Given the description of an element on the screen output the (x, y) to click on. 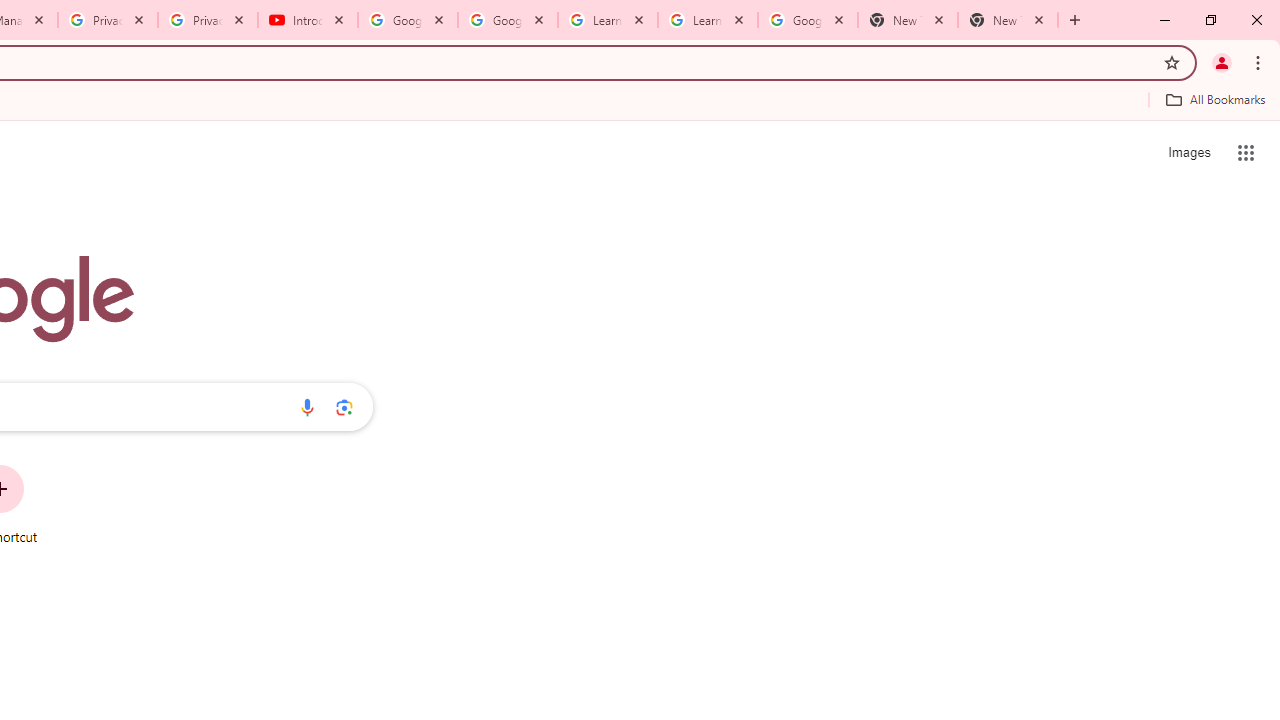
Google Account Help (508, 20)
Google Account Help (408, 20)
New Tab (1007, 20)
